Given the description of an element on the screen output the (x, y) to click on. 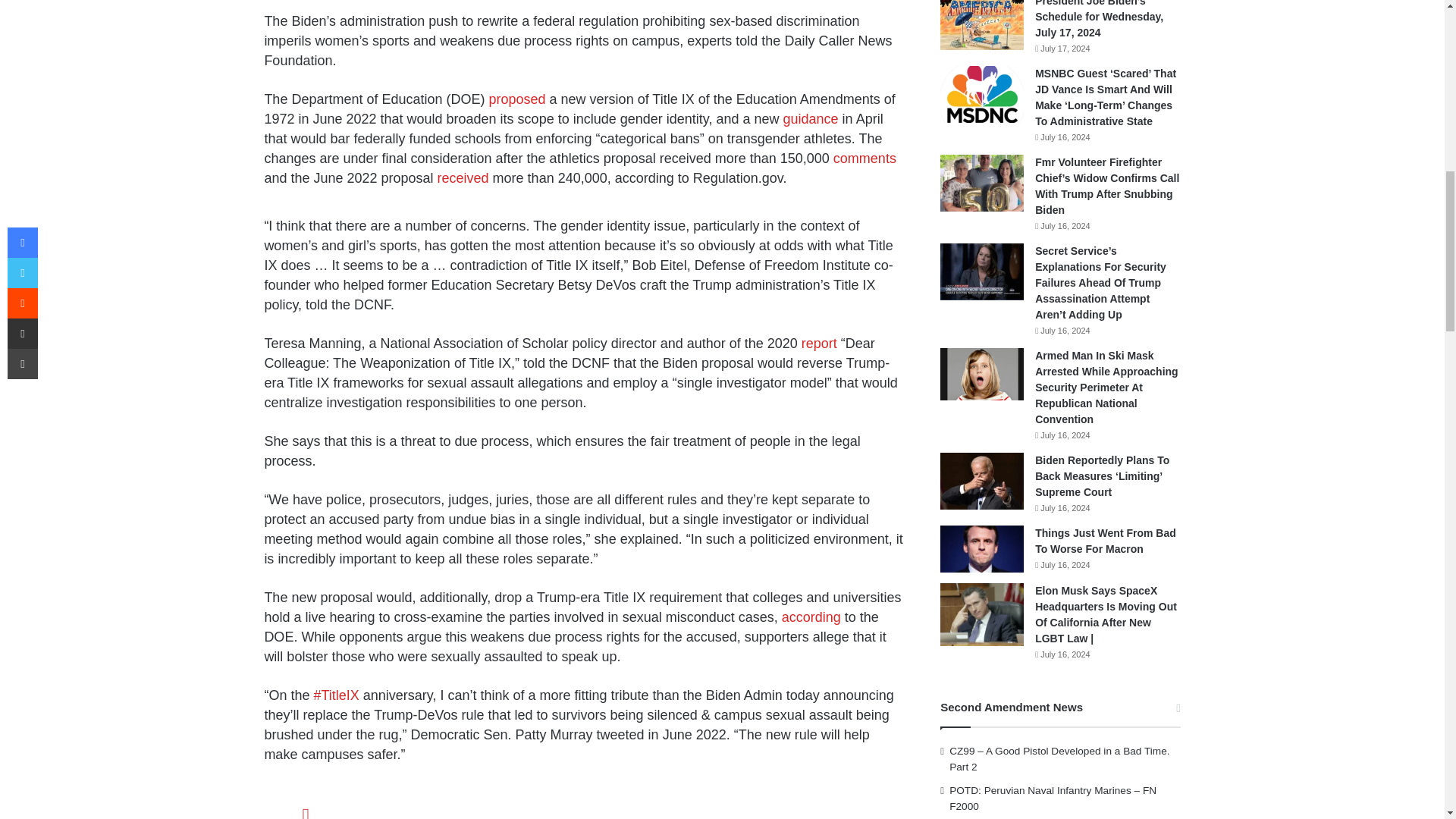
comments (864, 158)
guidance (810, 118)
according (811, 616)
proposed (517, 99)
received (463, 177)
report (819, 343)
